Given the description of an element on the screen output the (x, y) to click on. 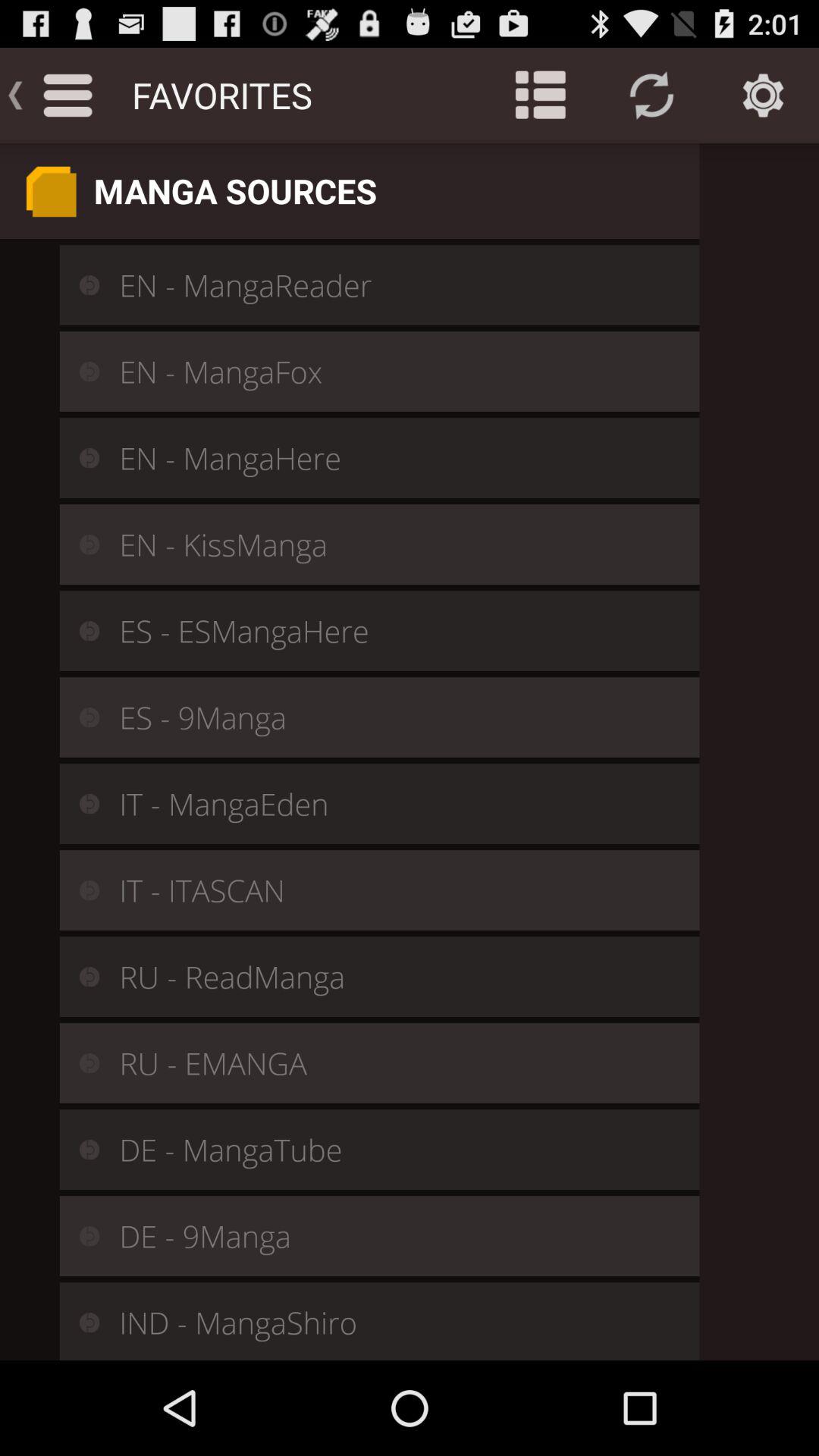
icon shown beside de  mangatube (79, 1149)
click on the icon left to es  9manga (79, 717)
click on the icon left to ru  readmanga (79, 976)
the icon shown in the fifth box from the top of the page (79, 631)
select the icon at above center of the page shown before en  mangafox (79, 371)
